Given the description of an element on the screen output the (x, y) to click on. 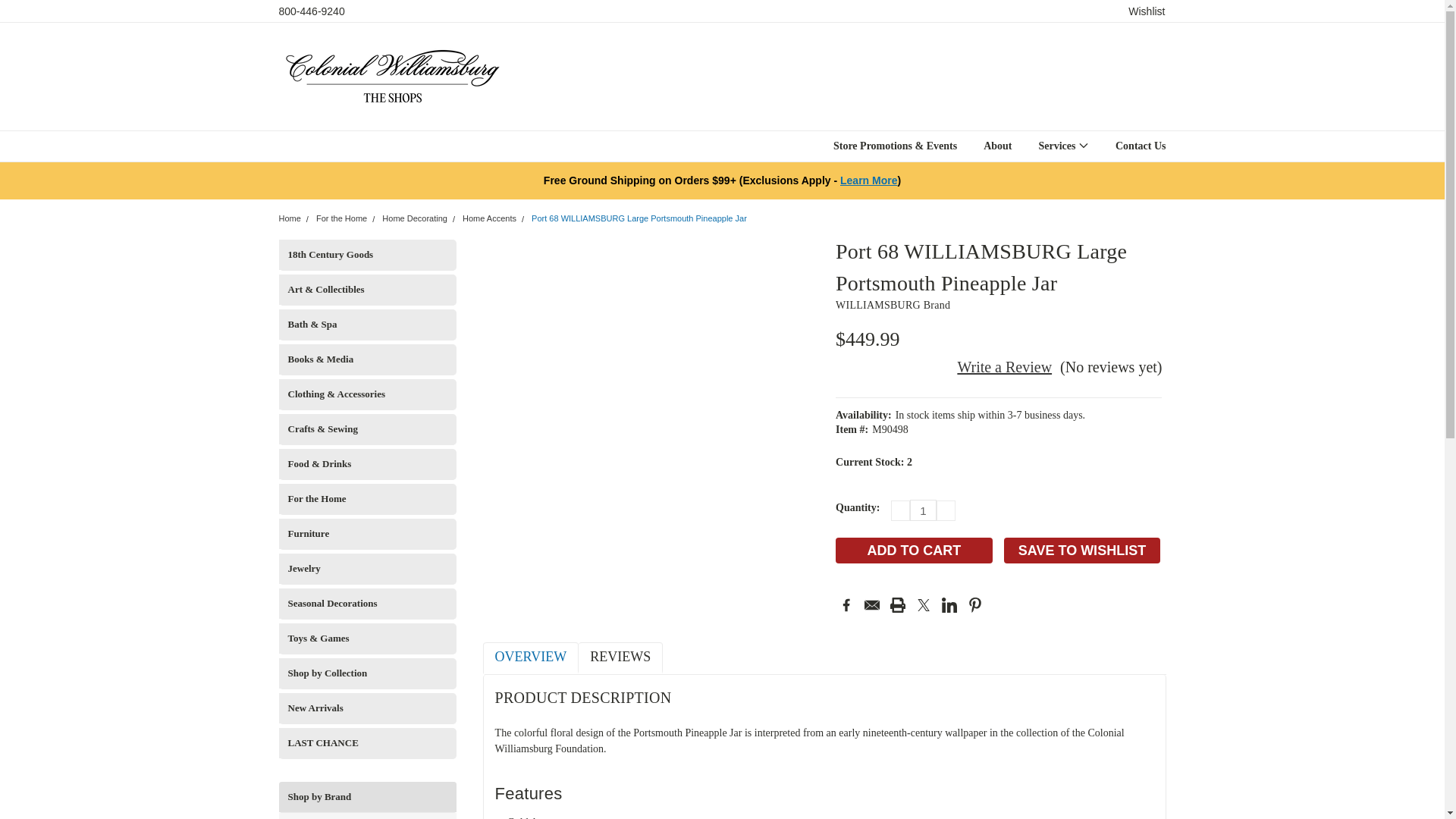
800-446-9240 (312, 10)
Pinterest (975, 604)
Wishlist (1146, 10)
The Shops at Colonial Williamsburg (392, 76)
1 (923, 509)
Facebook (845, 604)
Linkedin (949, 604)
Twitter (923, 604)
Print (897, 604)
Add to Cart (913, 550)
Email (871, 604)
